Given the description of an element on the screen output the (x, y) to click on. 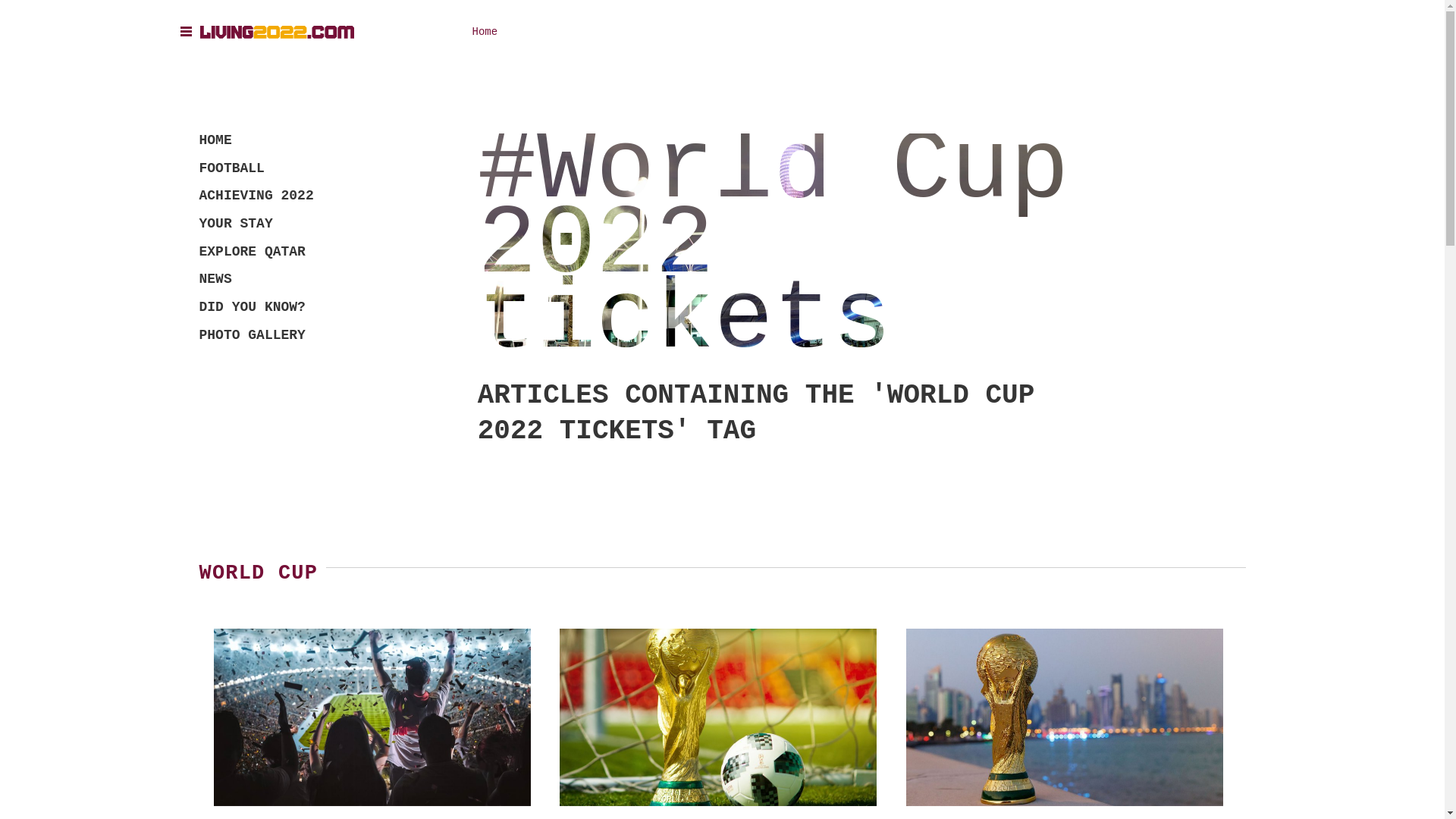
ACHIEVING 2022 (255, 195)
NEWS (255, 279)
FOOTBALL (255, 168)
YOUR STAY (255, 223)
DID YOU KNOW? (255, 307)
EXPLORE QATAR (255, 252)
PHOTO GALLERY (255, 335)
Open menu (188, 30)
Home (484, 31)
HOME (255, 140)
